Given the description of an element on the screen output the (x, y) to click on. 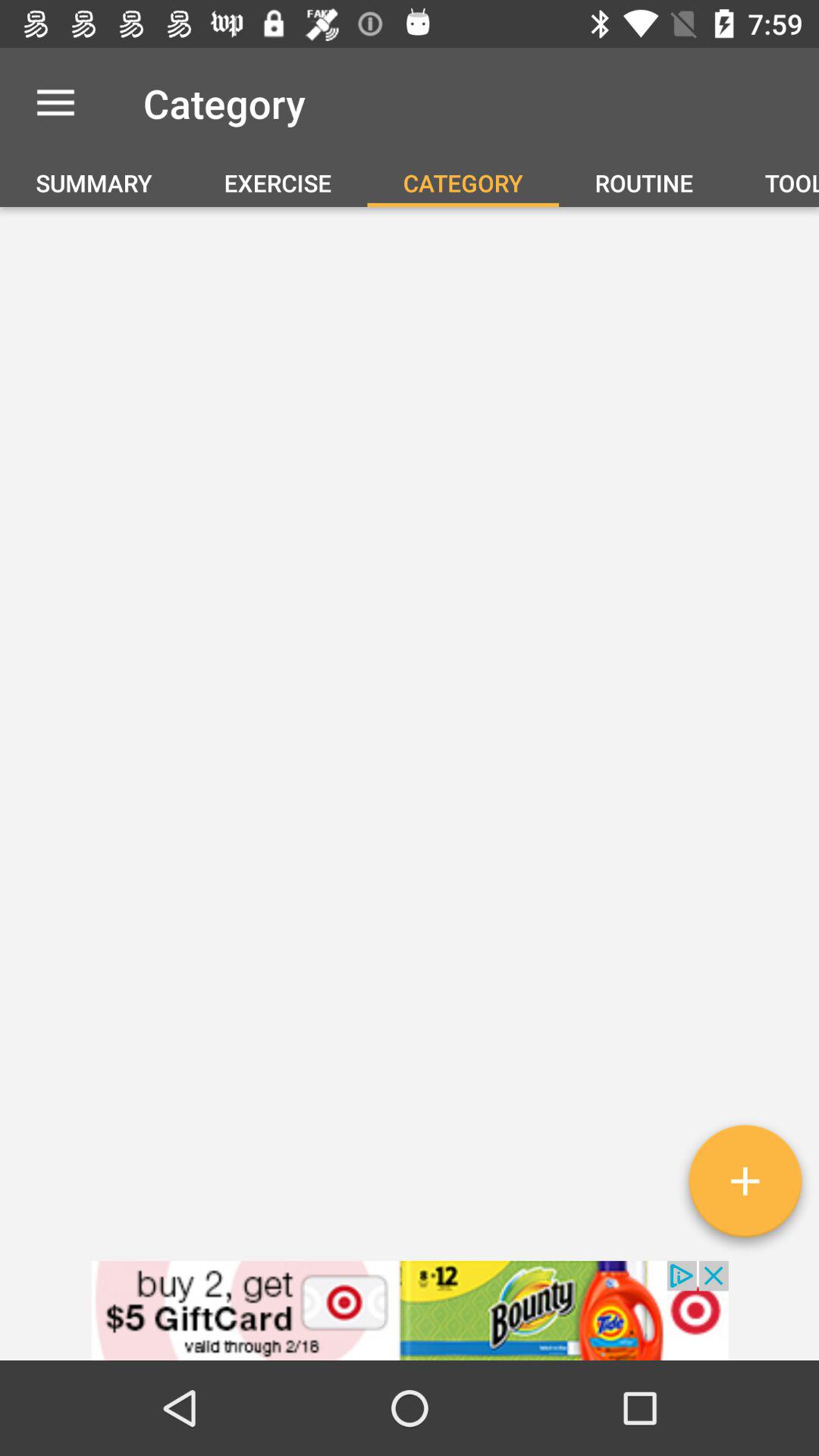
plus button (745, 1186)
